Given the description of an element on the screen output the (x, y) to click on. 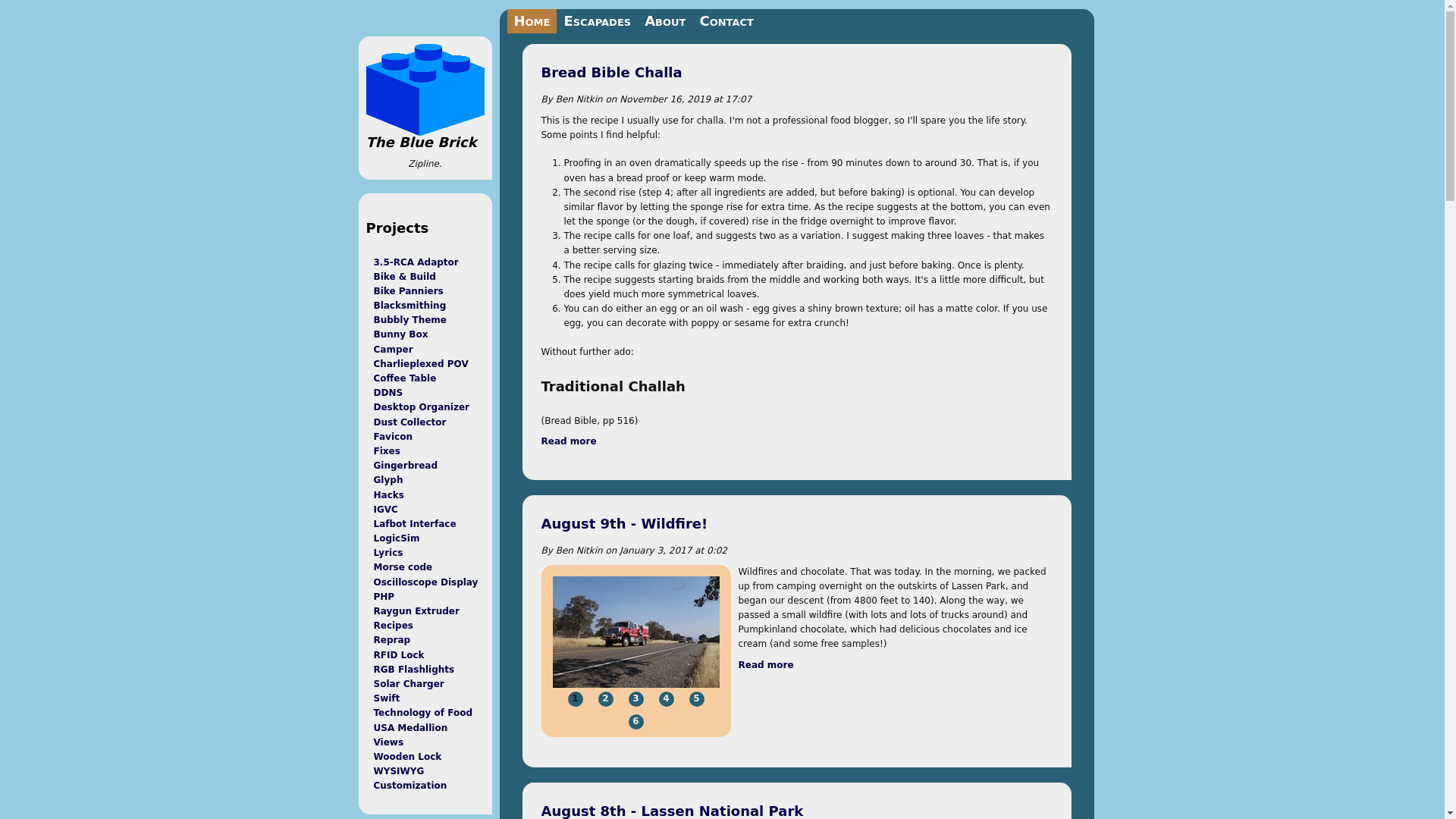
3 (635, 698)
Bread Bible Challa (611, 72)
5 (695, 698)
Fire trucks racing along to the wildfire zooming past us. (635, 631)
Bread Bible Challa (568, 440)
August 9th - Wildfire! (624, 523)
2 (765, 665)
1 (604, 698)
6 (574, 698)
4 (635, 721)
August 9th - Wildfire! (568, 440)
Fire trucks racing along to the wildfire zooming past us. (665, 698)
August 8th - Lassen National Park (765, 665)
